Given the description of an element on the screen output the (x, y) to click on. 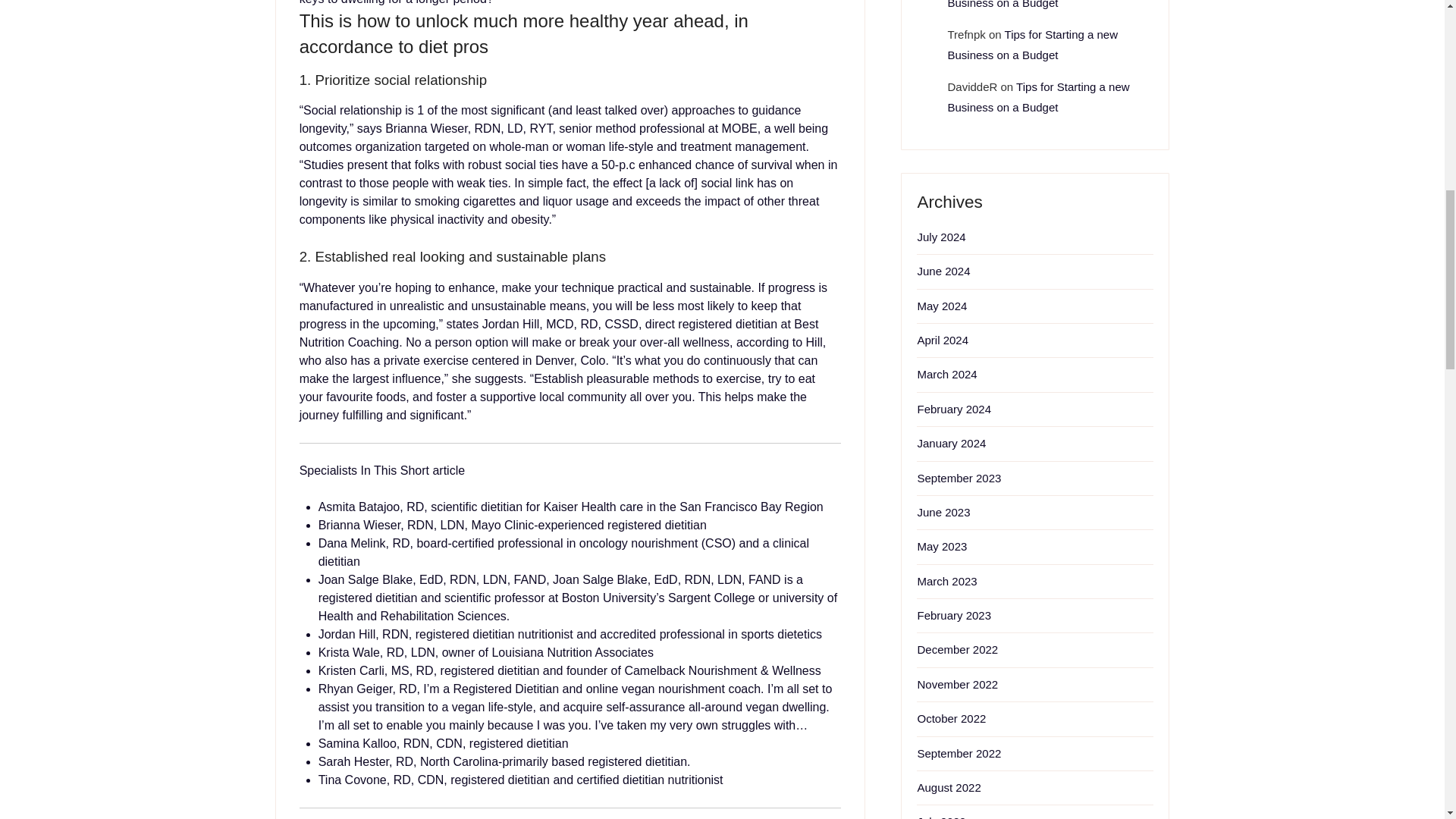
Tips for Starting a new Business on a Budget (1034, 4)
February 2023 (954, 615)
May 2023 (941, 545)
February 2024 (954, 408)
Tips for Starting a new Business on a Budget (1032, 44)
December 2022 (957, 649)
March 2023 (946, 581)
January 2024 (951, 442)
September 2023 (959, 477)
March 2024 (946, 373)
June 2023 (943, 512)
April 2024 (942, 339)
May 2024 (941, 305)
Tips for Starting a new Business on a Budget (1038, 96)
June 2024 (943, 270)
